Given the description of an element on the screen output the (x, y) to click on. 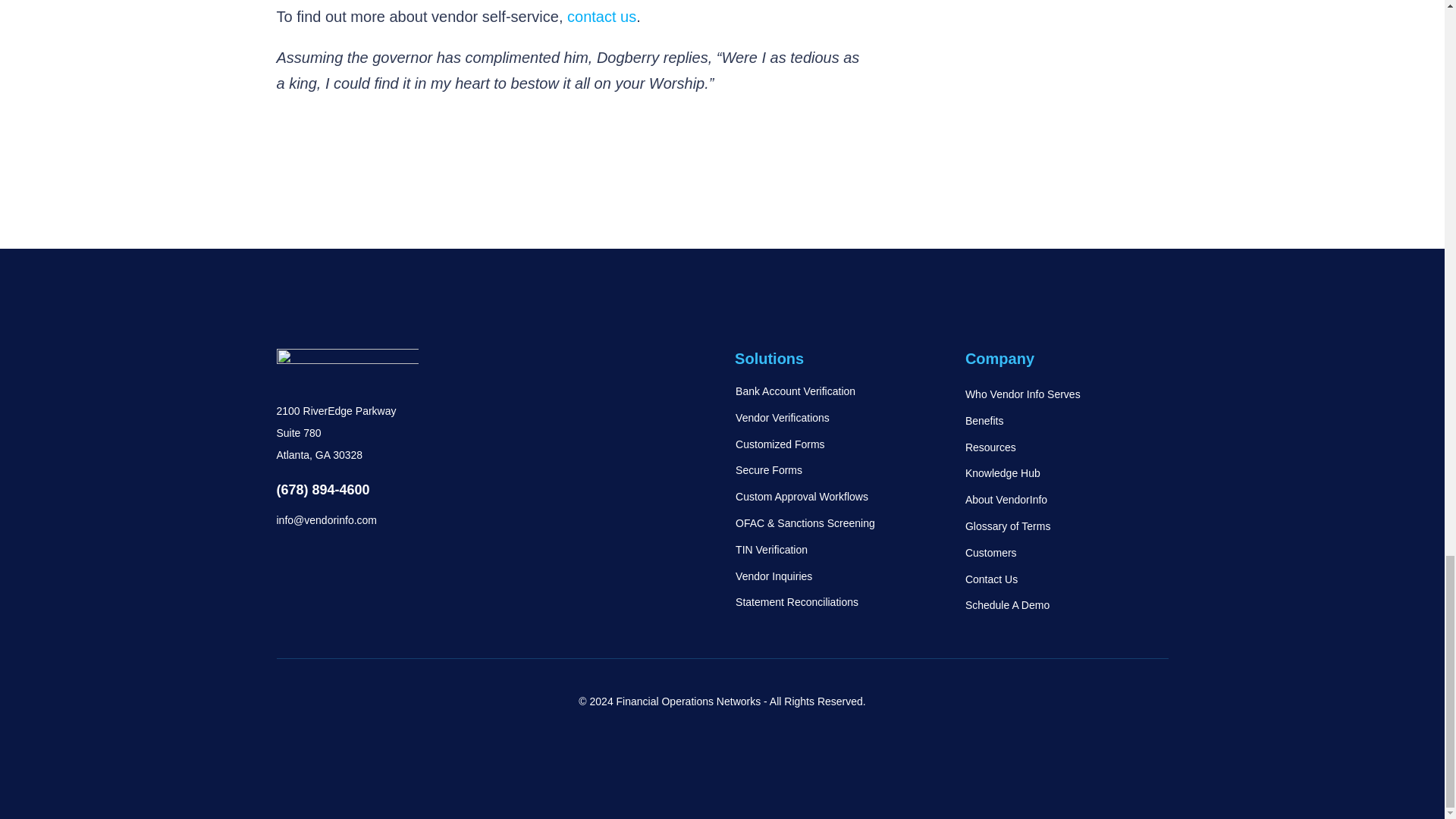
contact us (601, 16)
VendorInfo-white (346, 365)
